Given the description of an element on the screen output the (x, y) to click on. 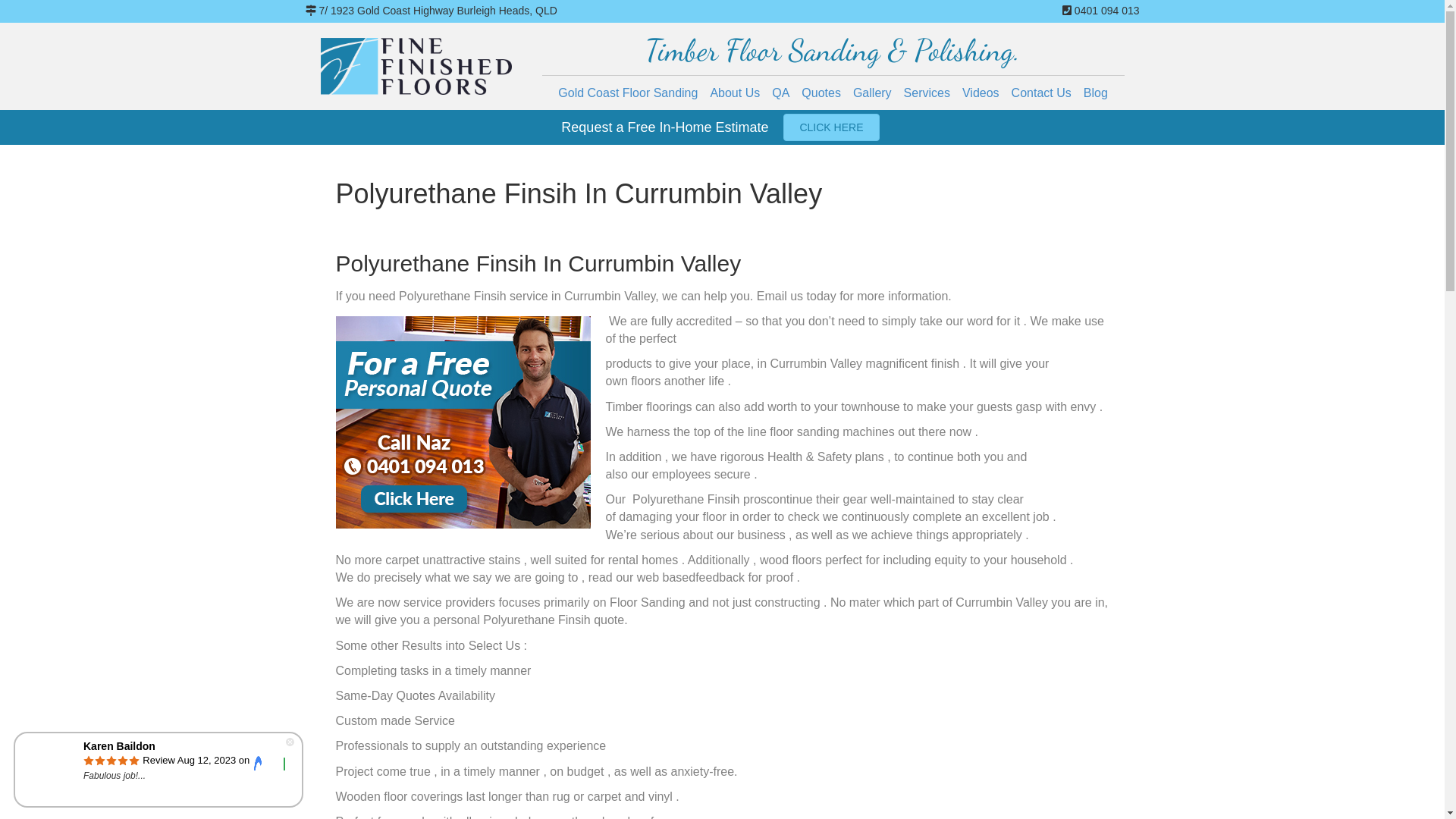
Blog Element type: text (1095, 93)
0401 094 013 Element type: text (1105, 10)
Services Element type: text (926, 93)
QA Element type: text (780, 93)
Gallery Element type: text (872, 93)
Gold Coast Floor Sanding Element type: text (627, 93)
Quotes Element type: text (820, 93)
logo2-small Element type: hover (415, 66)
About Us Element type: text (734, 93)
CLICK HERE Element type: text (830, 127)
Contact Us Element type: text (1041, 93)
Videos Element type: text (980, 93)
